Given the description of an element on the screen output the (x, y) to click on. 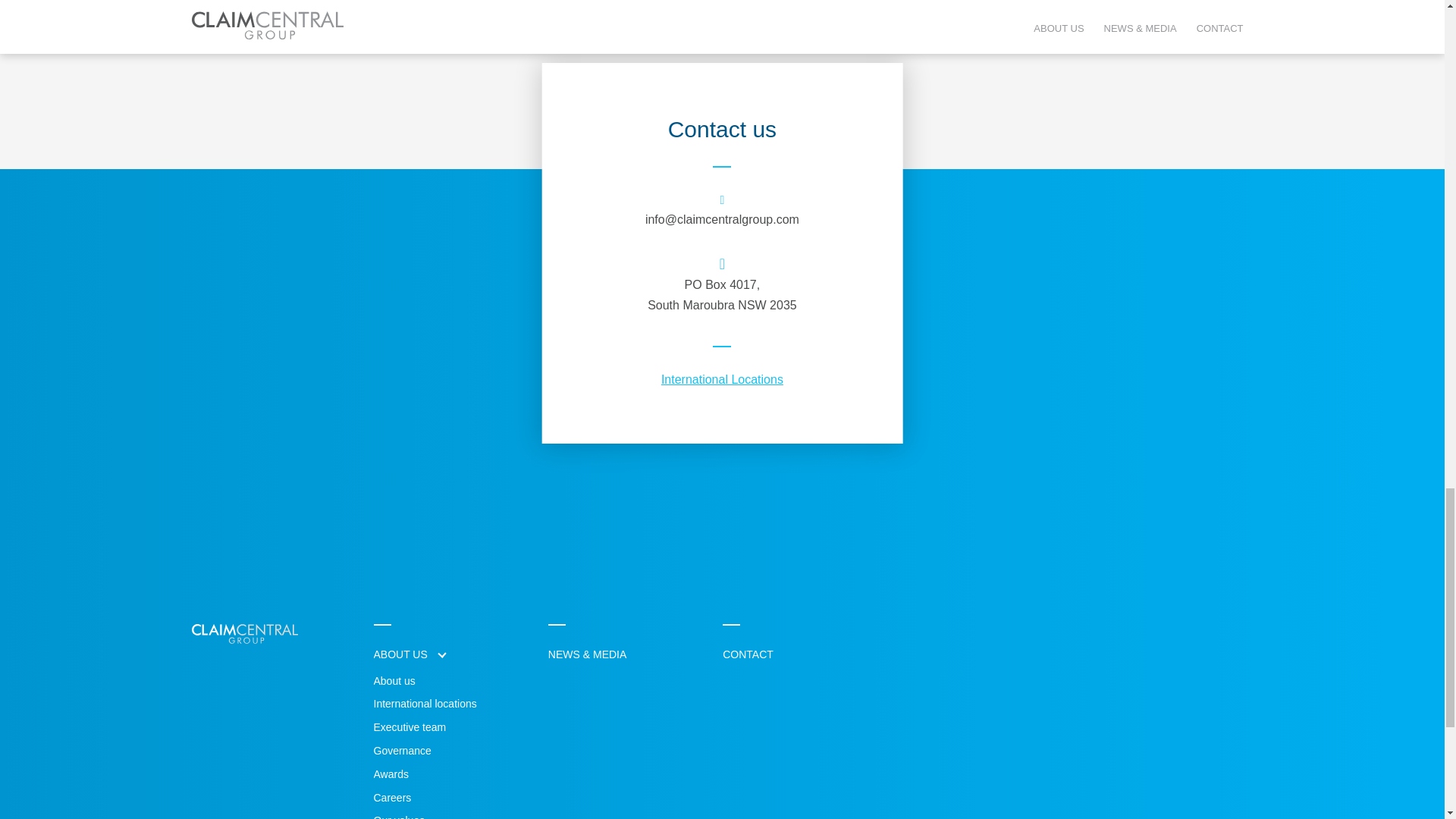
International Locations (722, 379)
